Given the description of an element on the screen output the (x, y) to click on. 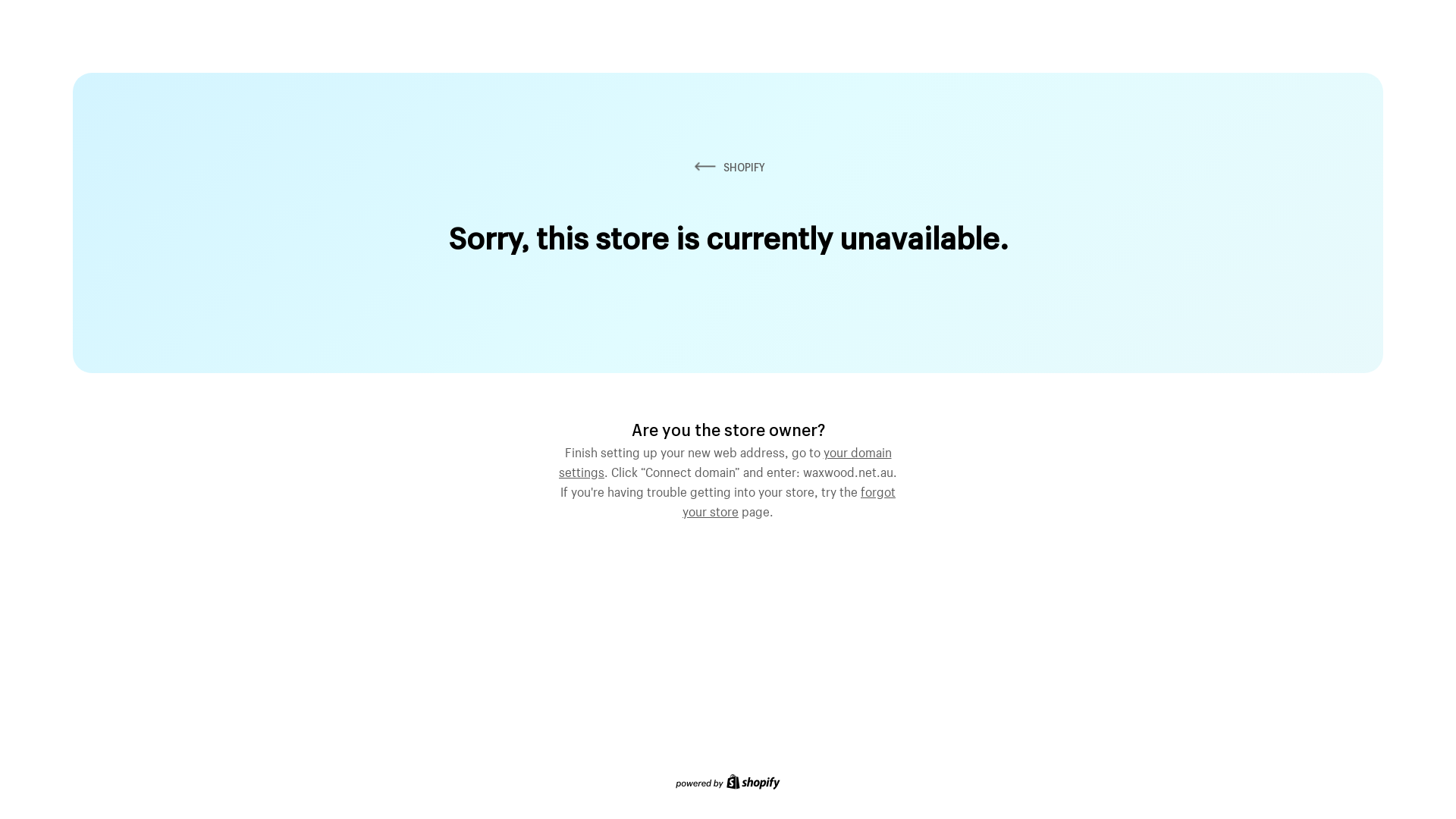
SHOPIFY Element type: text (727, 167)
forgot your store Element type: text (788, 499)
your domain settings Element type: text (724, 460)
